Given the description of an element on the screen output the (x, y) to click on. 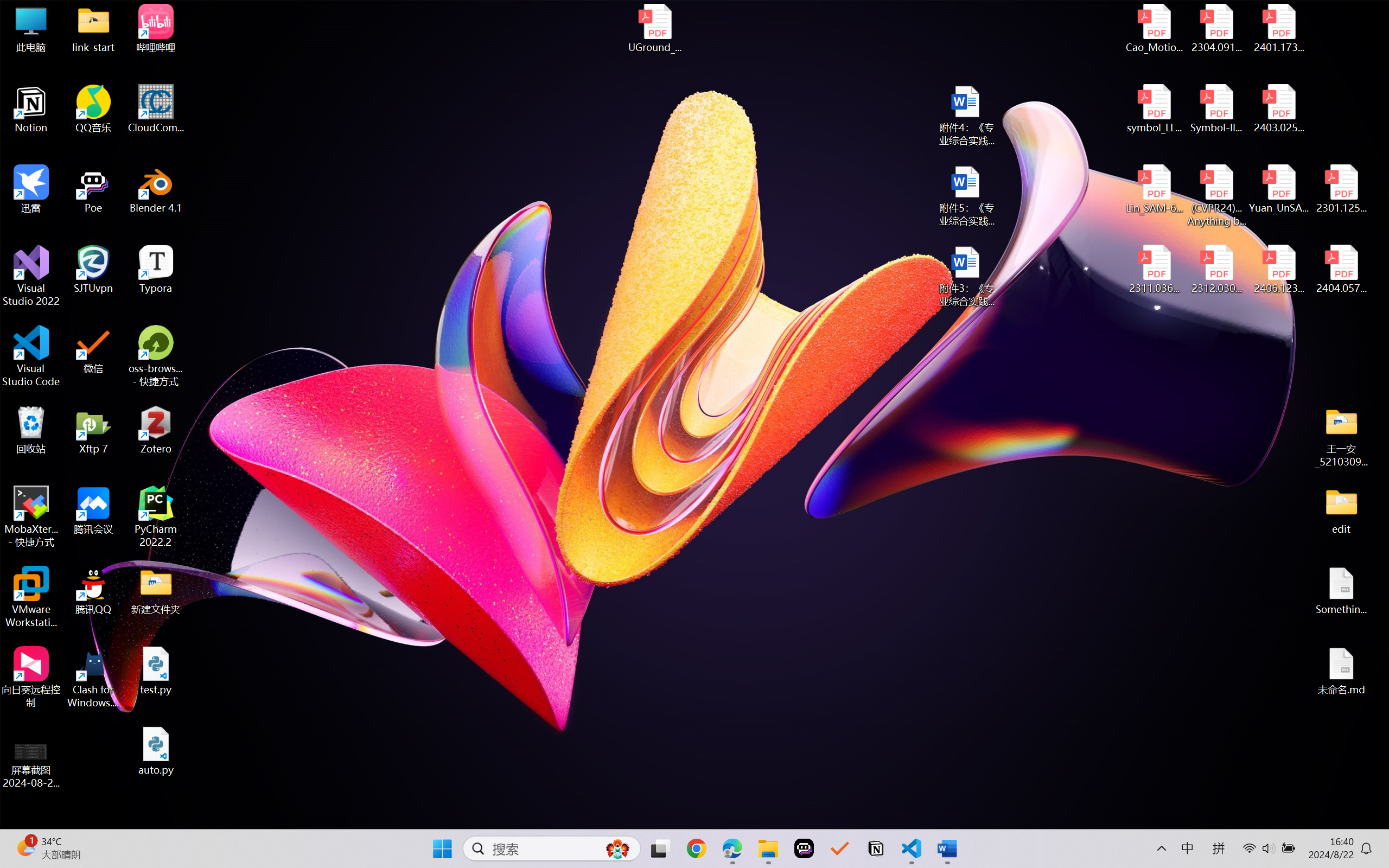
Visual Studio 2022 (31, 276)
Google Chrome (696, 848)
2403.02502v1.pdf (1278, 109)
PyCharm 2022.2 (156, 516)
